Given the description of an element on the screen output the (x, y) to click on. 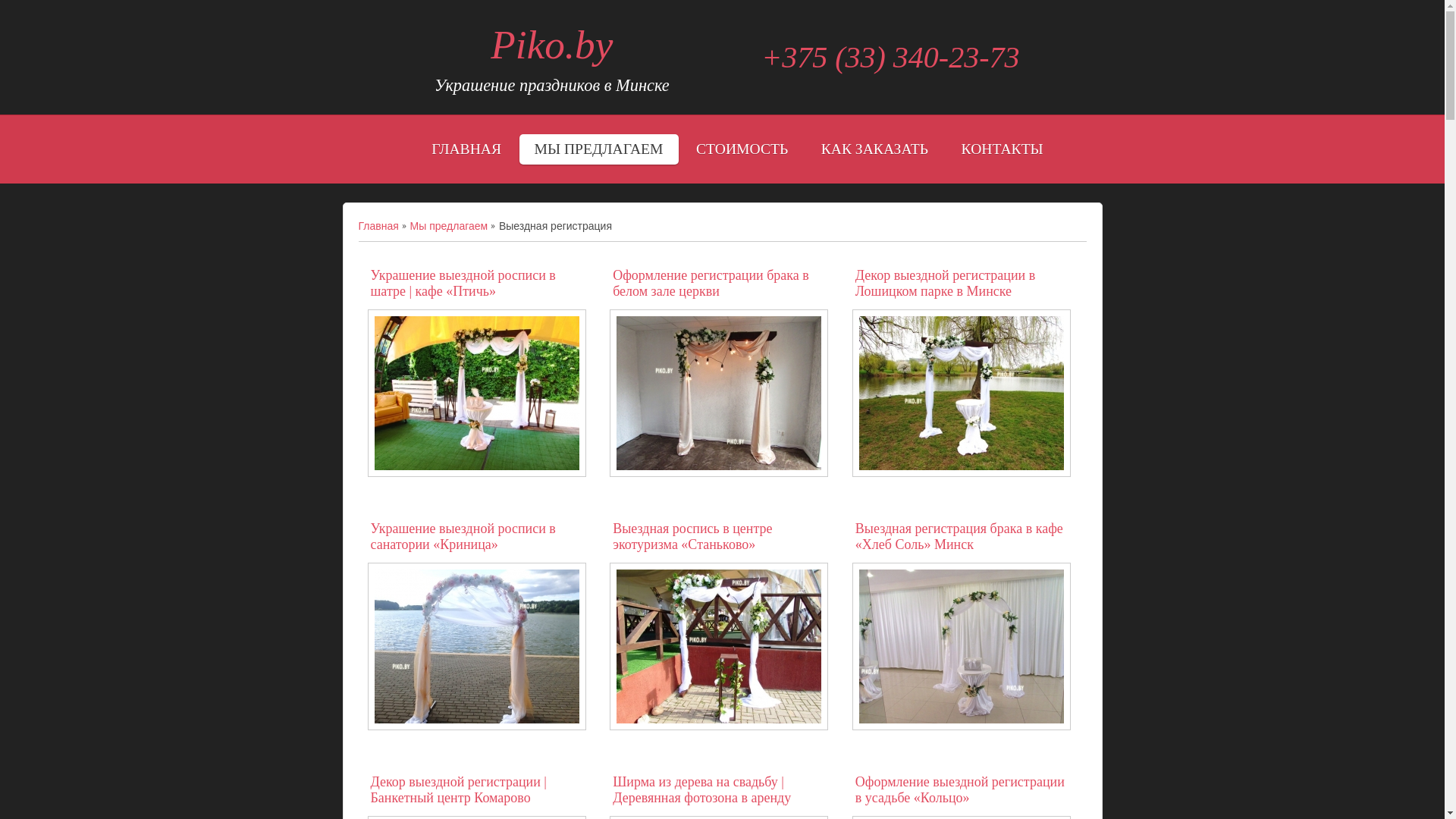
Piko.by Element type: text (552, 45)
